Given the description of an element on the screen output the (x, y) to click on. 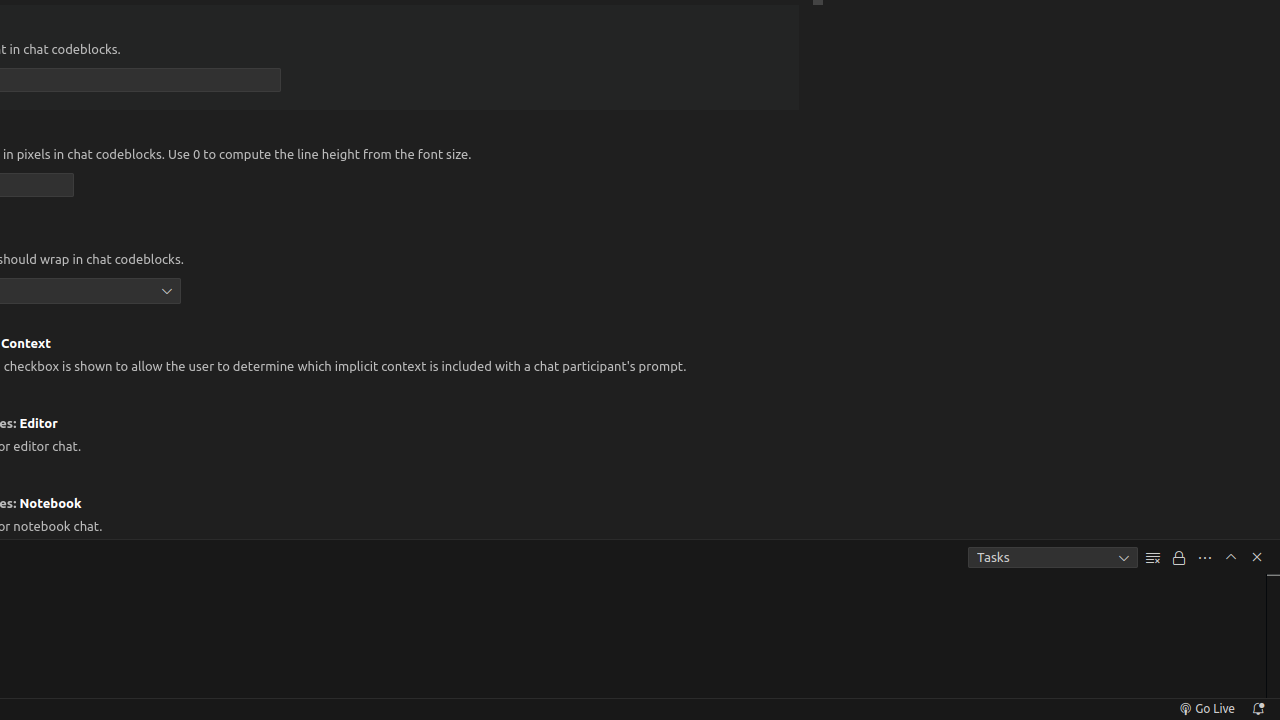
broadcast Go Live, Click to run live server Element type: push-button (1206, 709)
Turn Auto Scrolling Off Element type: check-box (1179, 557)
Hide Panel Element type: push-button (1257, 557)
Notifications Element type: push-button (1258, 709)
Tasks Element type: menu-item (1053, 557)
